Given the description of an element on the screen output the (x, y) to click on. 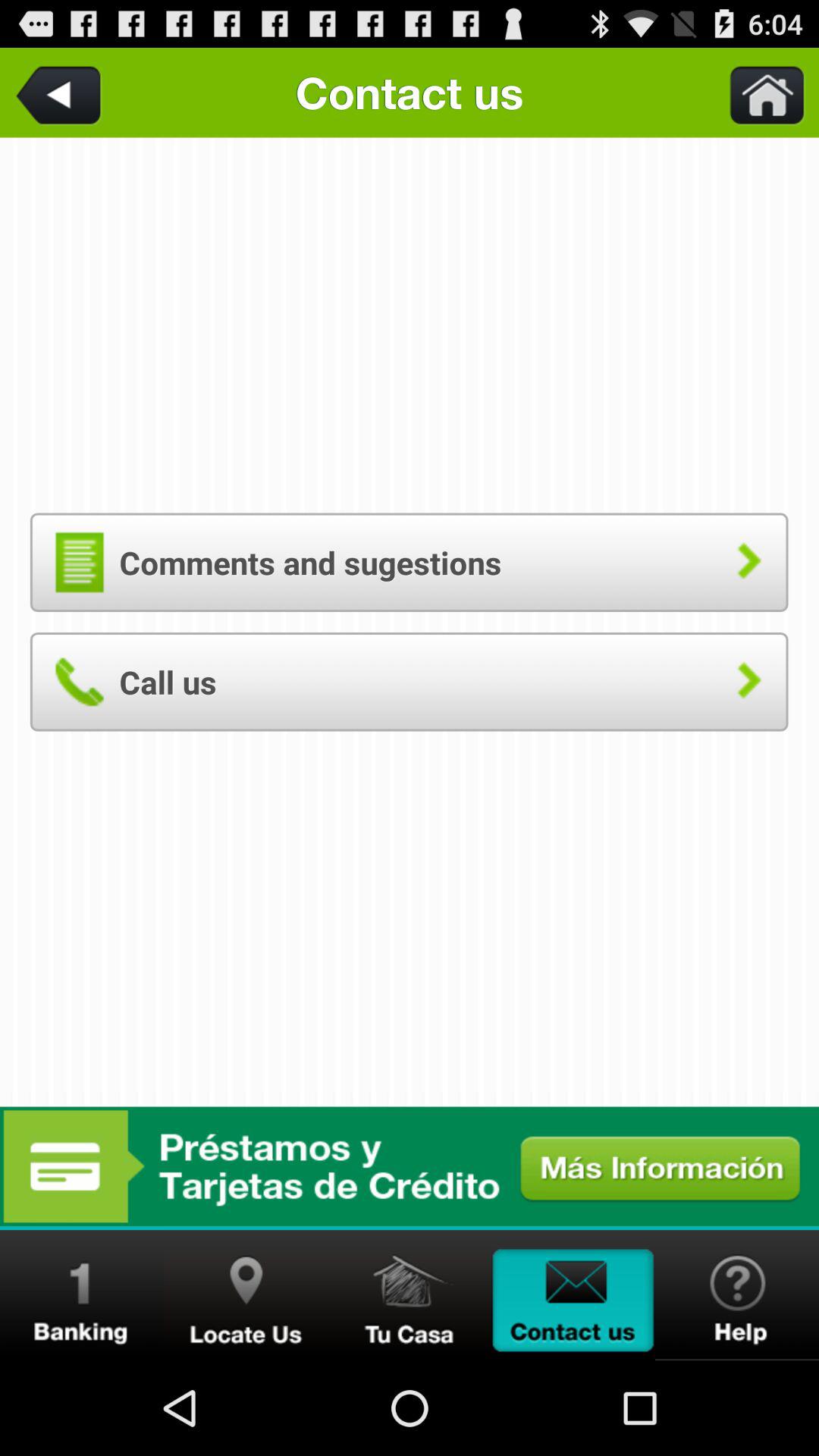
tap app next to the contact us app (61, 92)
